Given the description of an element on the screen output the (x, y) to click on. 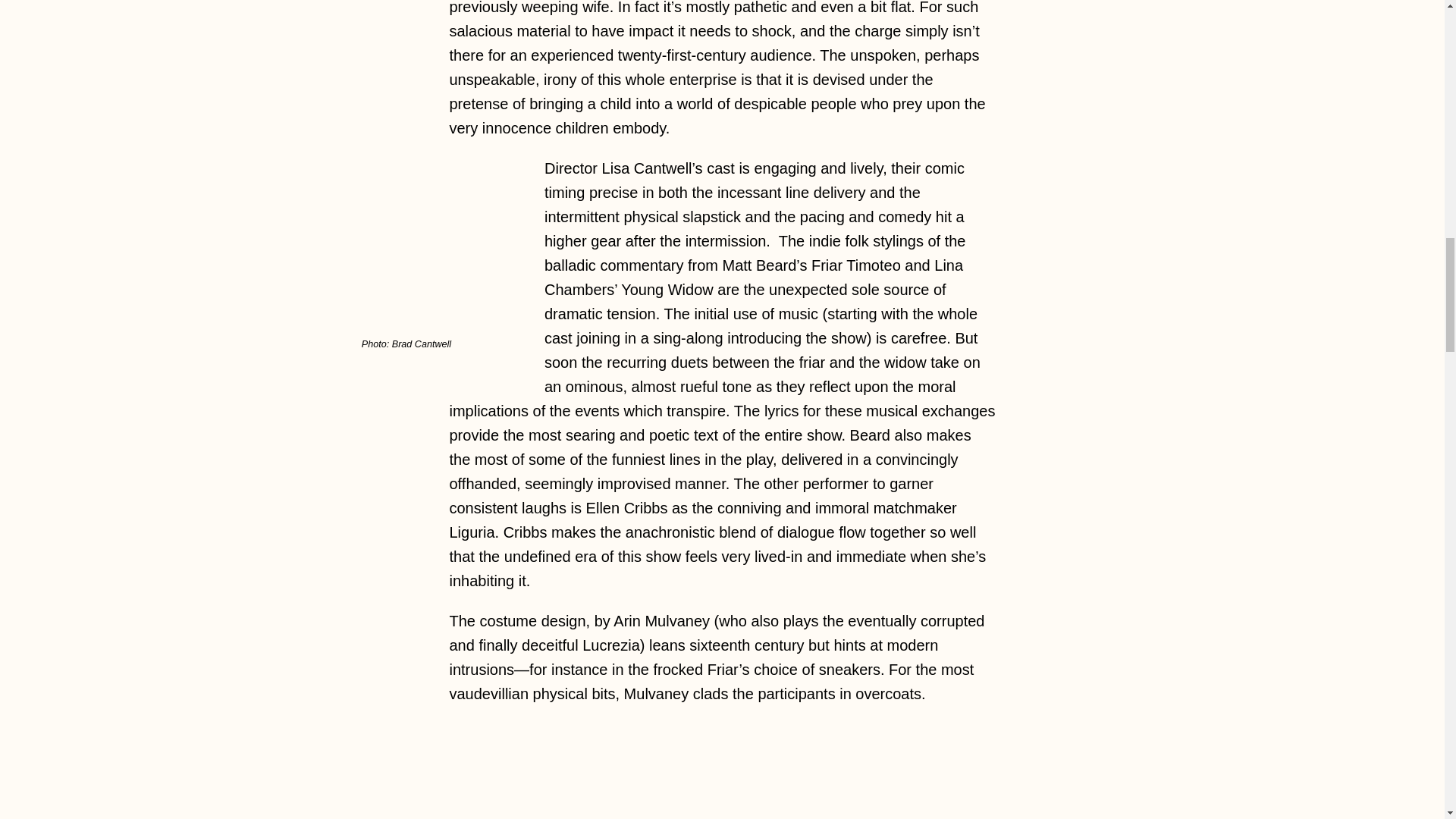
3rd party ad content (722, 773)
